Given the description of an element on the screen output the (x, y) to click on. 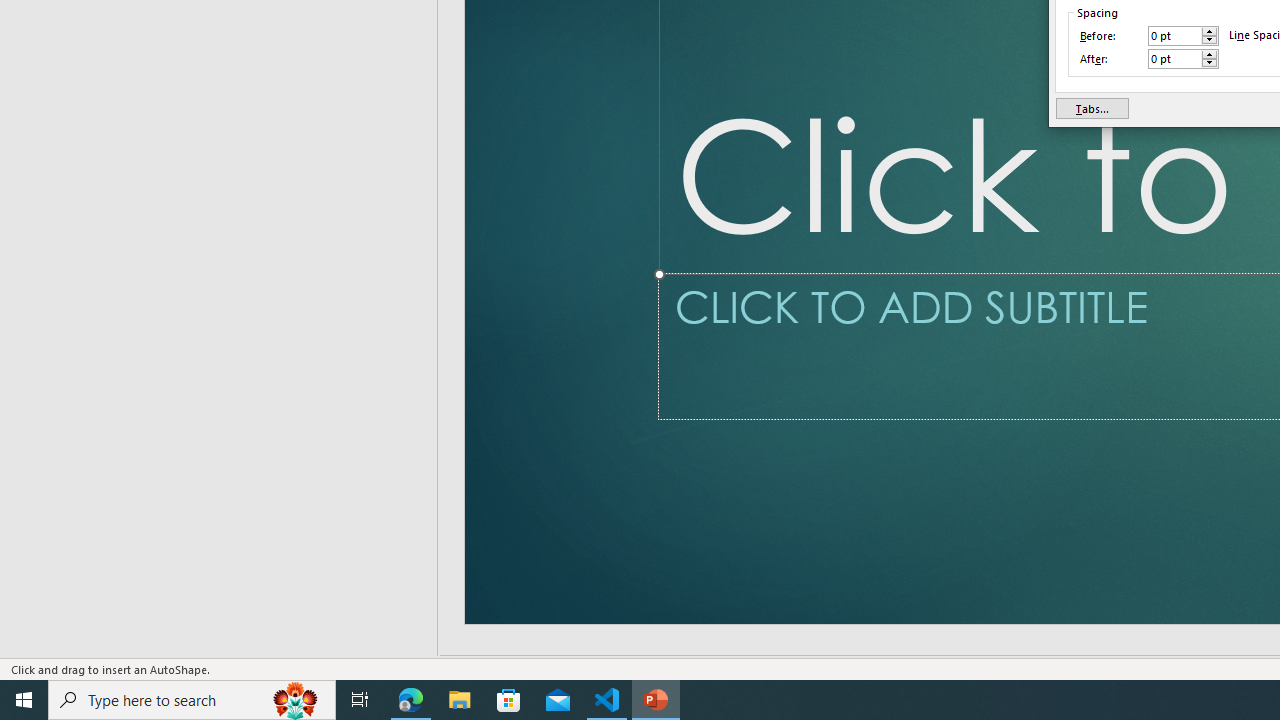
Visual Studio Code - 1 running window (607, 699)
Start (24, 699)
Tabs... (1092, 108)
Type here to search (191, 699)
More (1209, 54)
Microsoft Store (509, 699)
Search highlights icon opens search home window (295, 699)
Before (1183, 35)
After (1174, 58)
File Explorer (460, 699)
Before (1174, 35)
Less (1209, 63)
PowerPoint - 1 running window (656, 699)
After (1183, 58)
